Given the description of an element on the screen output the (x, y) to click on. 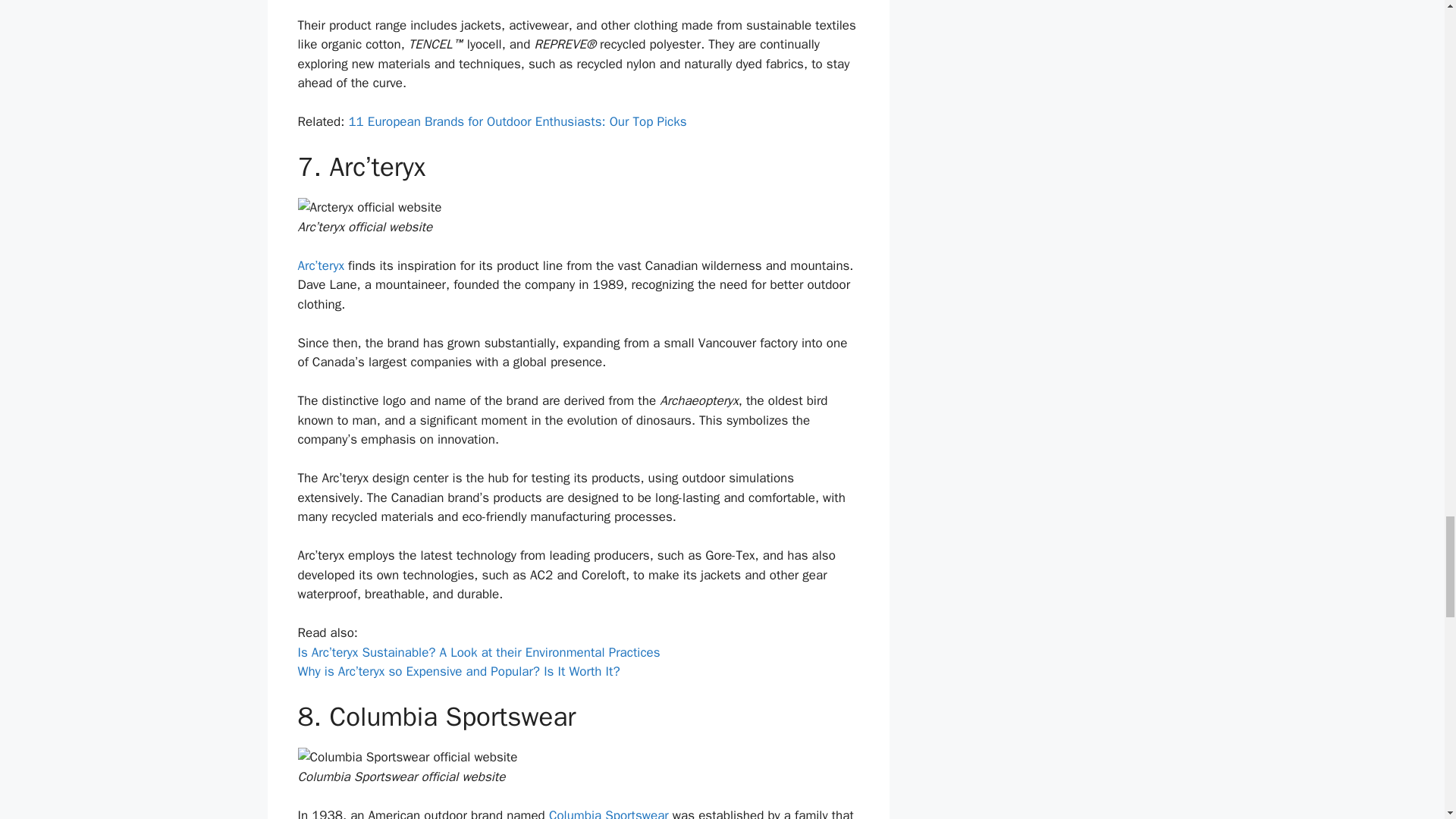
11 European Brands for Outdoor Enthusiasts: Our Top Picks (516, 121)
